Given the description of an element on the screen output the (x, y) to click on. 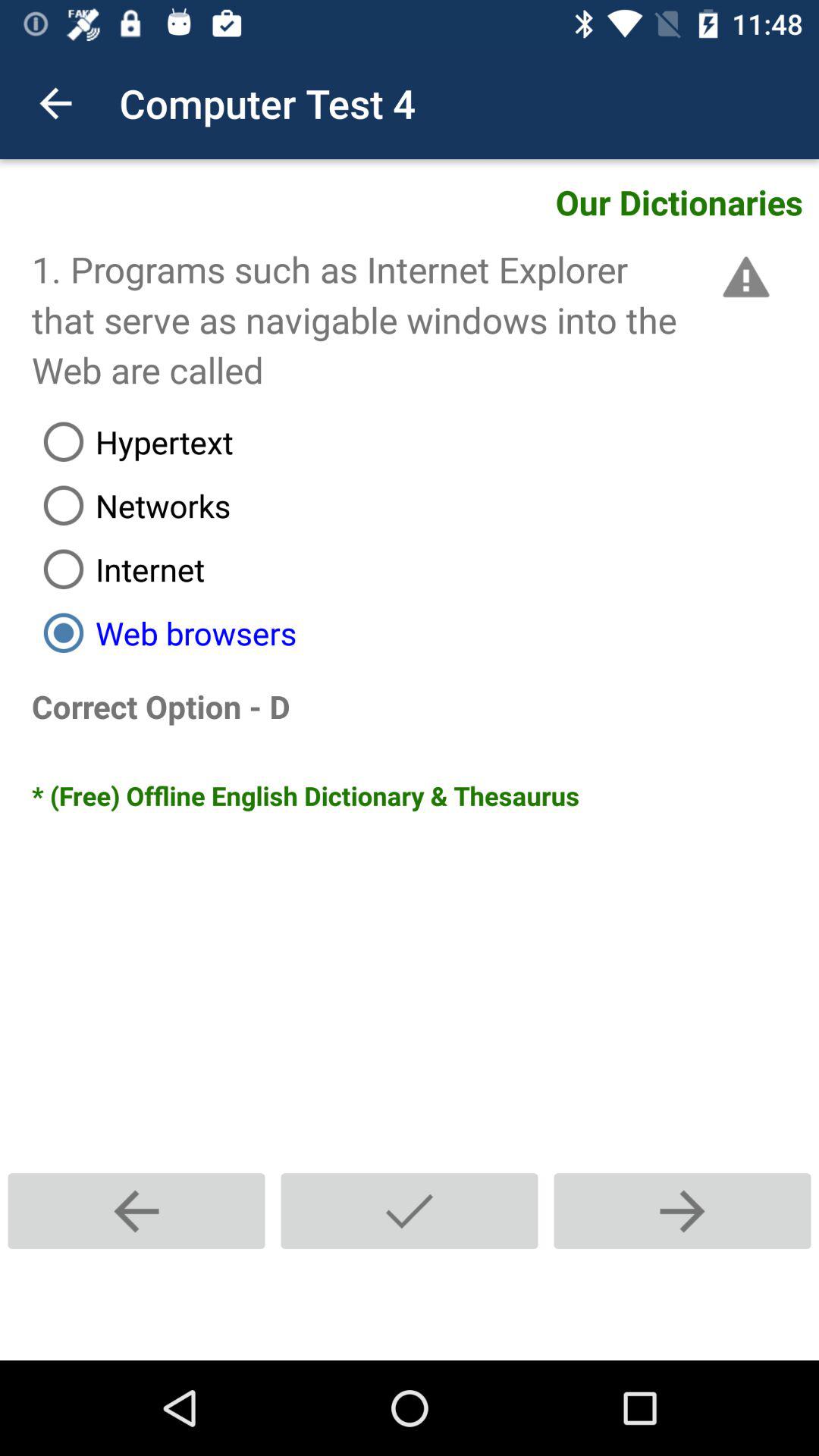
launch icon below free offline english (136, 1210)
